Given the description of an element on the screen output the (x, y) to click on. 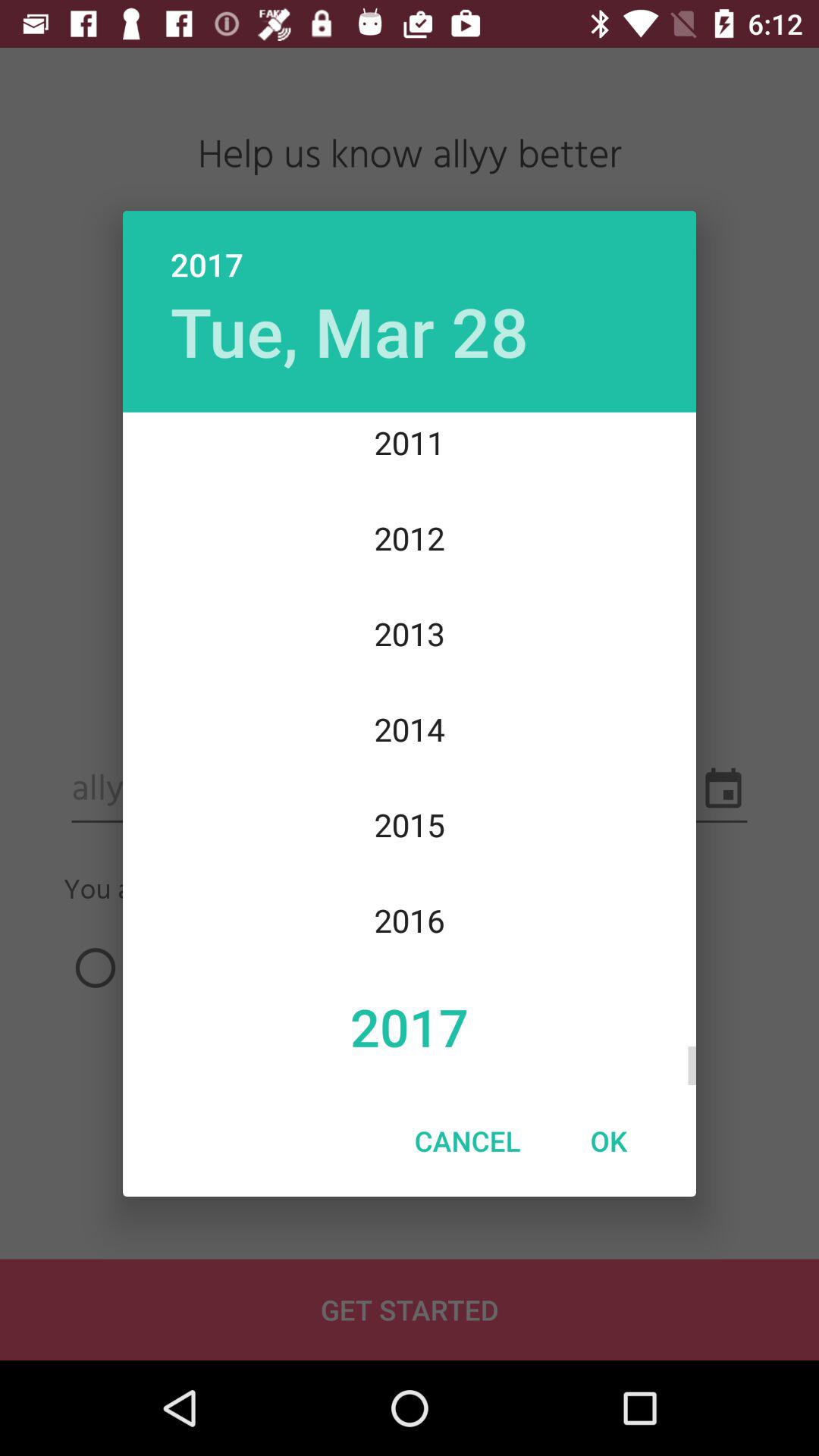
launch the tue, mar 28 icon (349, 331)
